Given the description of an element on the screen output the (x, y) to click on. 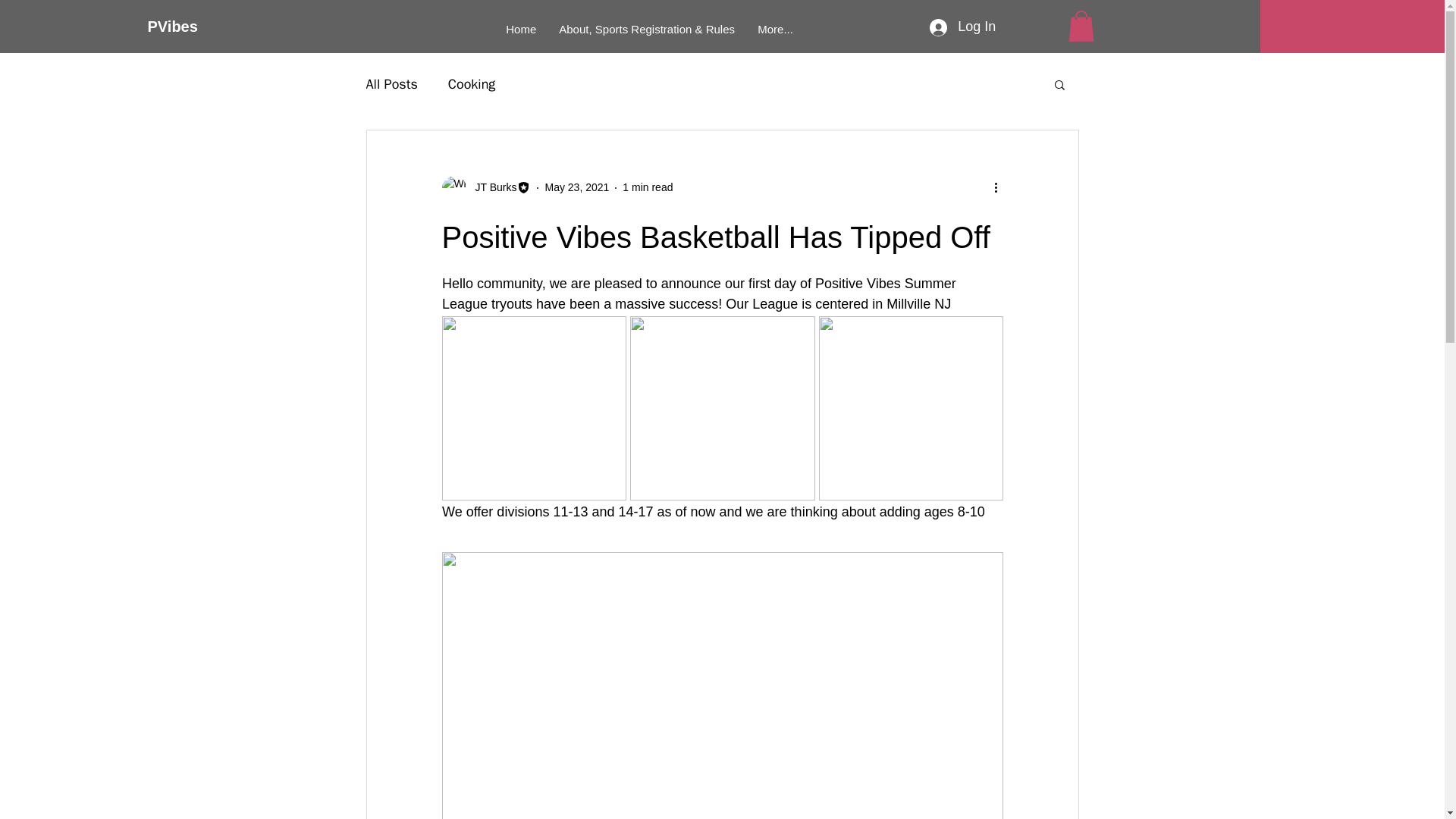
JT Burks (486, 187)
1 min read (647, 186)
JT Burks (490, 187)
May 23, 2021 (576, 186)
Cooking (472, 84)
Home (521, 29)
All Posts (390, 84)
PVibes (198, 25)
Log In (962, 26)
